Given the description of an element on the screen output the (x, y) to click on. 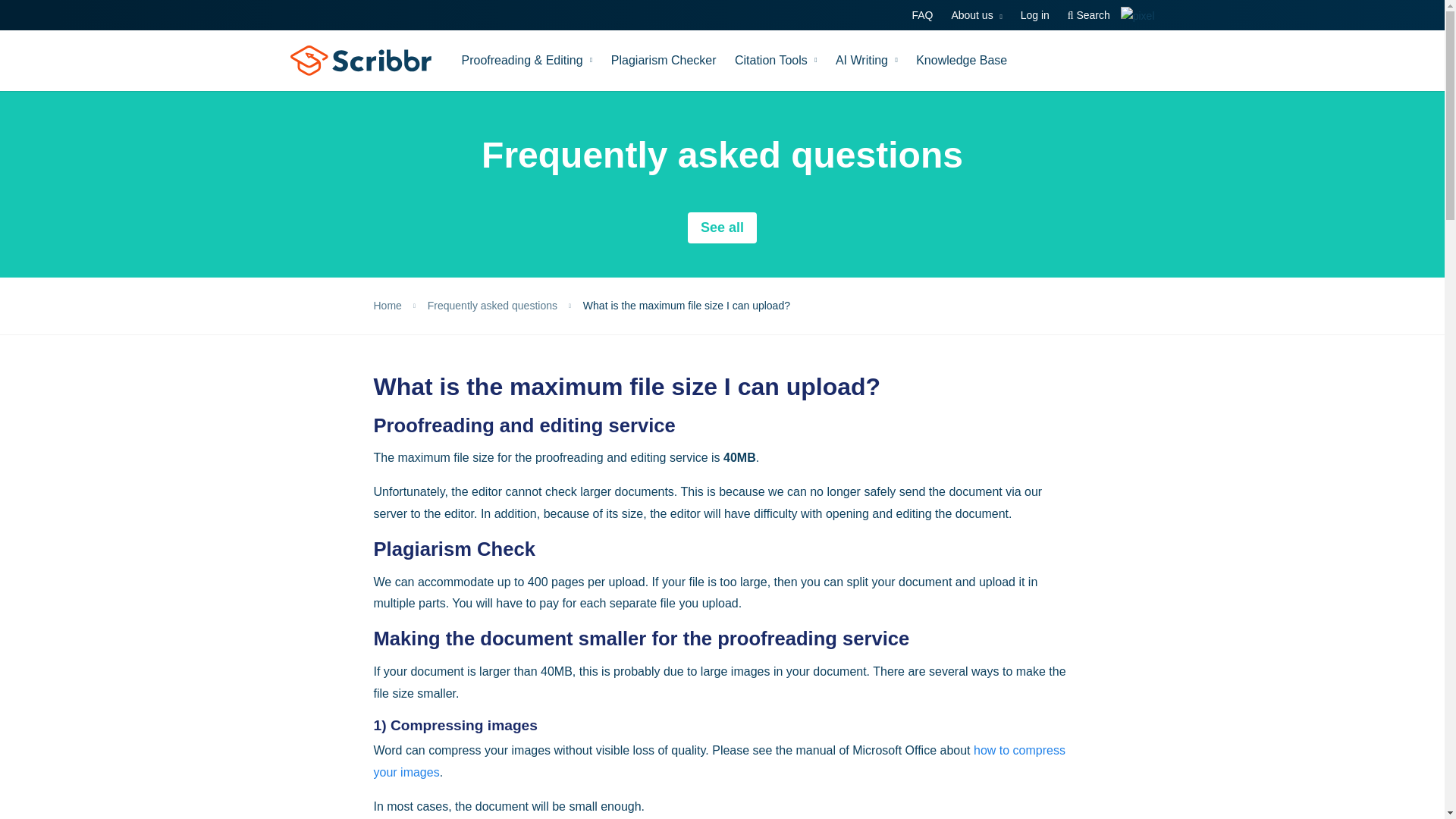
Citation Tools (775, 60)
Log in (1034, 15)
Search (1088, 15)
About us (976, 15)
FAQ (921, 15)
Plagiarism Checker (663, 60)
